Given the description of an element on the screen output the (x, y) to click on. 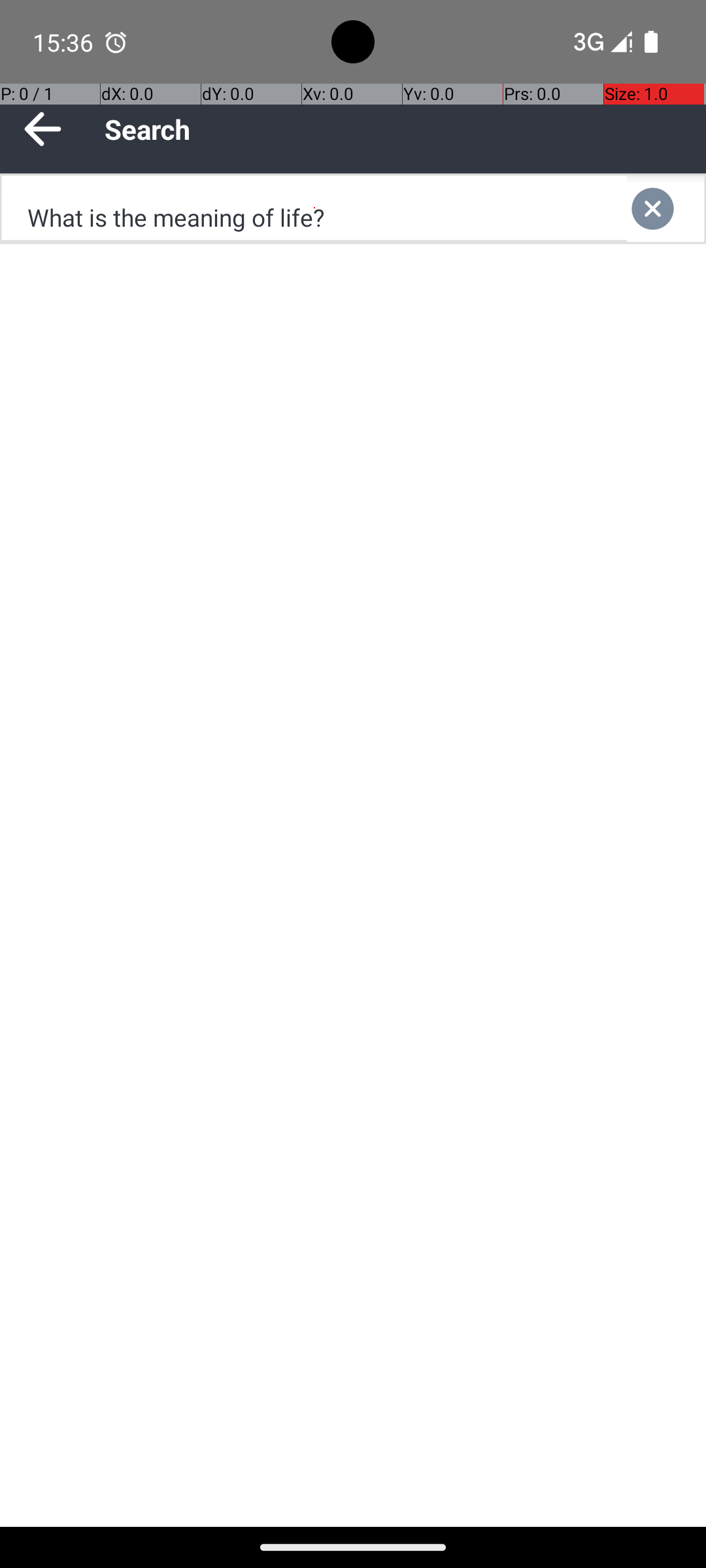
What is the meaning of life? Element type: android.widget.EditText (313, 208)
